Given the description of an element on the screen output the (x, y) to click on. 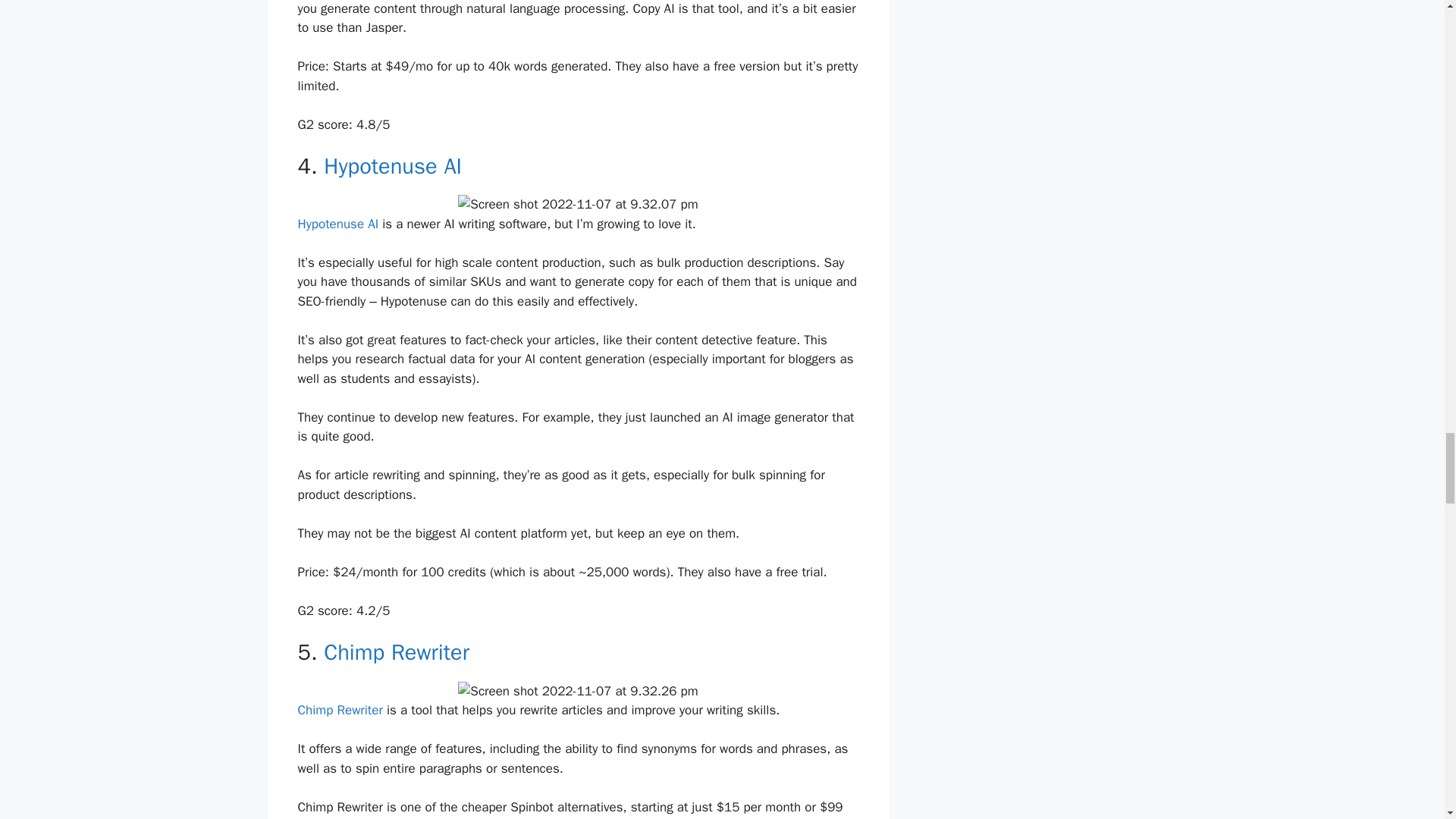
Hypotenuse AI (392, 166)
Hypotenuse AI (337, 223)
Chimp Rewriter (339, 709)
Chimp Rewriter (395, 652)
